Given the description of an element on the screen output the (x, y) to click on. 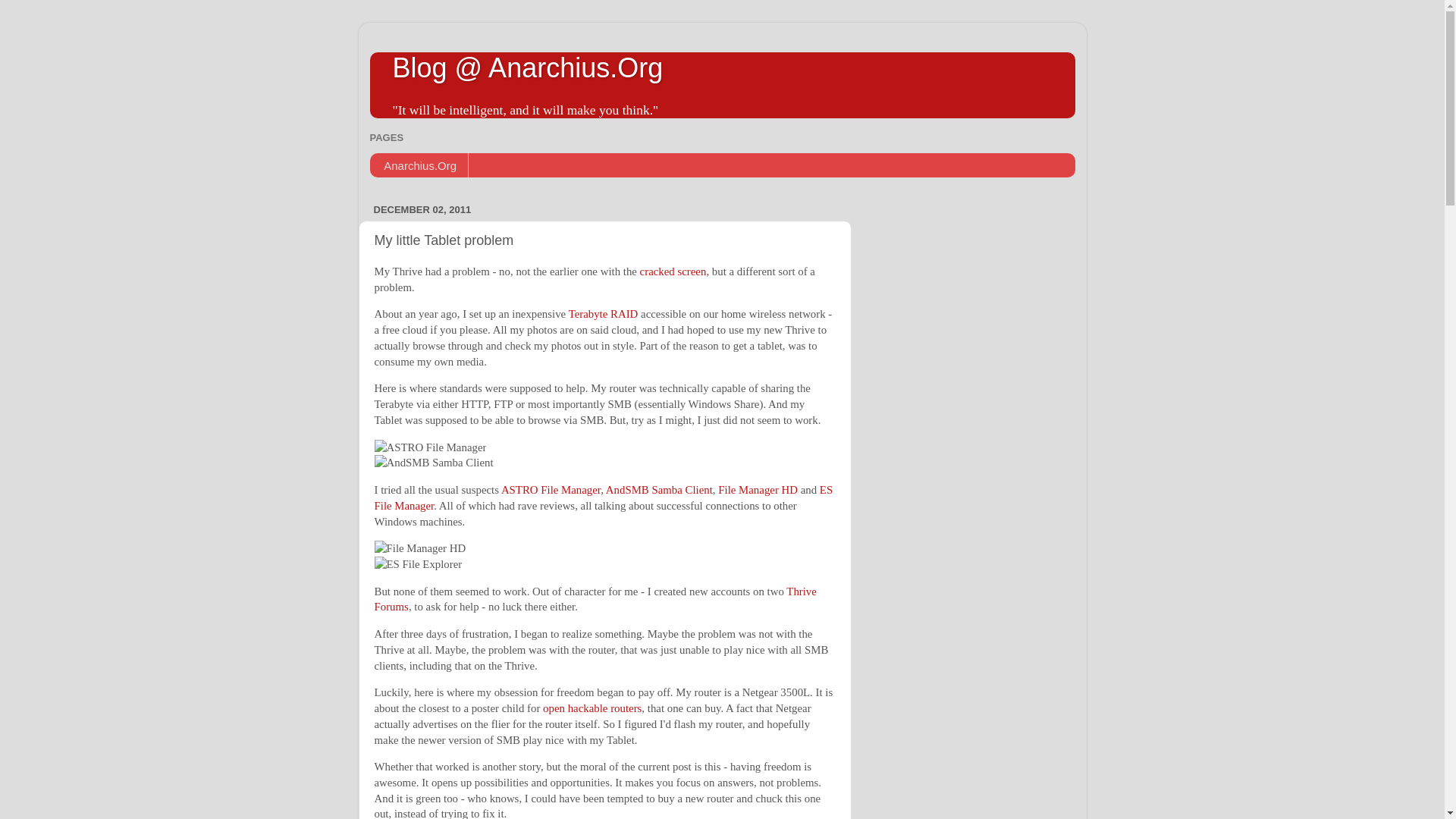
ASTRO File Manager (549, 490)
Terabyte RAID (604, 313)
open hackable routers (592, 707)
File Manager HD (757, 490)
ES File Manager (603, 497)
Anarchius.Org (418, 165)
AndSMB Samba Client (659, 490)
Thrive (801, 591)
Forums (391, 606)
cracked screen (673, 271)
